Given the description of an element on the screen output the (x, y) to click on. 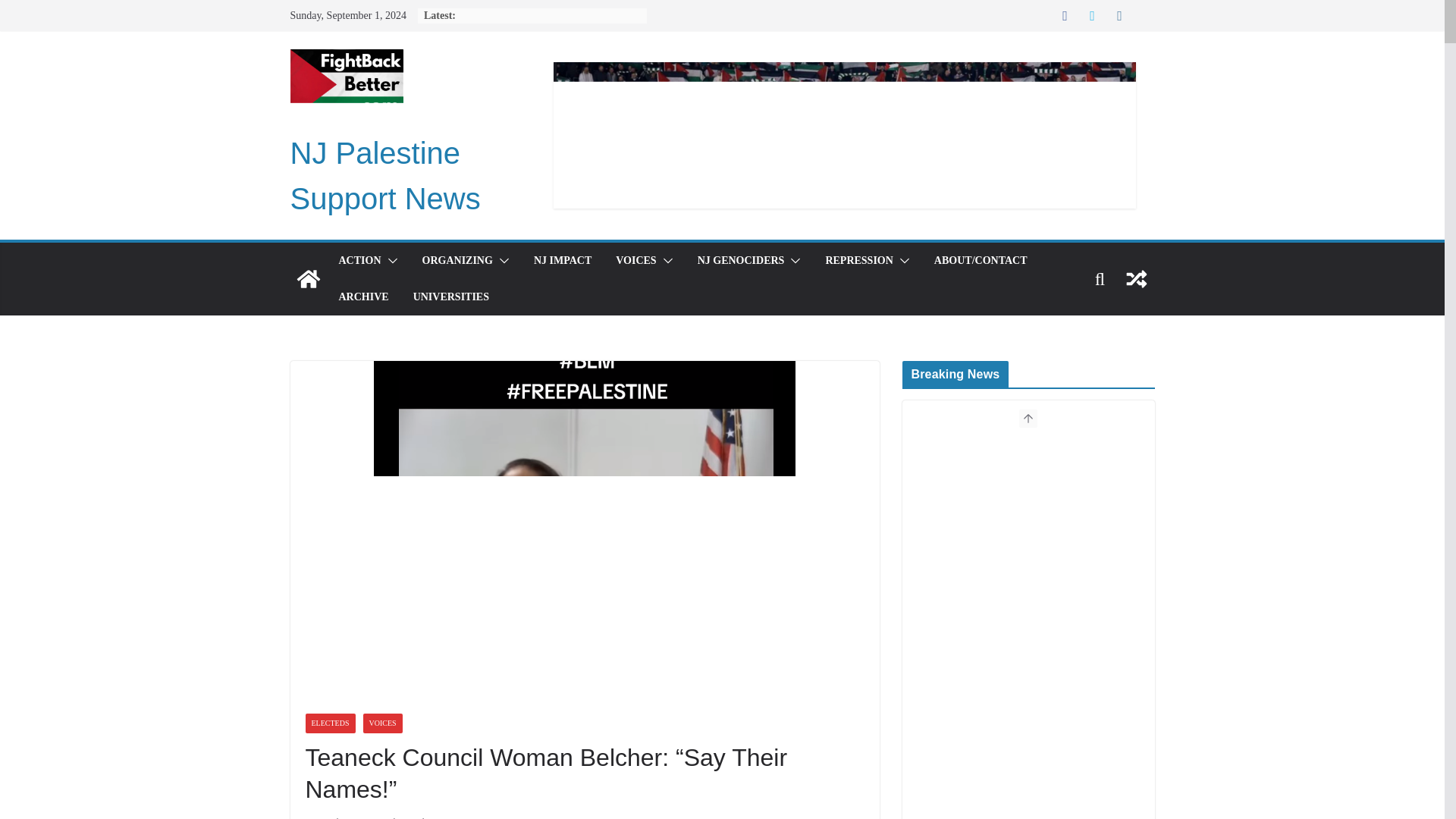
View a random post (1136, 279)
NJ Palestine Support News (384, 175)
bwitanek (409, 816)
ACTION (358, 260)
NJ GENOCIDERS (740, 260)
NJ IMPACT (562, 260)
5:56 am (339, 816)
NJ Palestine Support News (384, 175)
NJ Palestine Support News (307, 279)
ORGANIZING (457, 260)
